Given the description of an element on the screen output the (x, y) to click on. 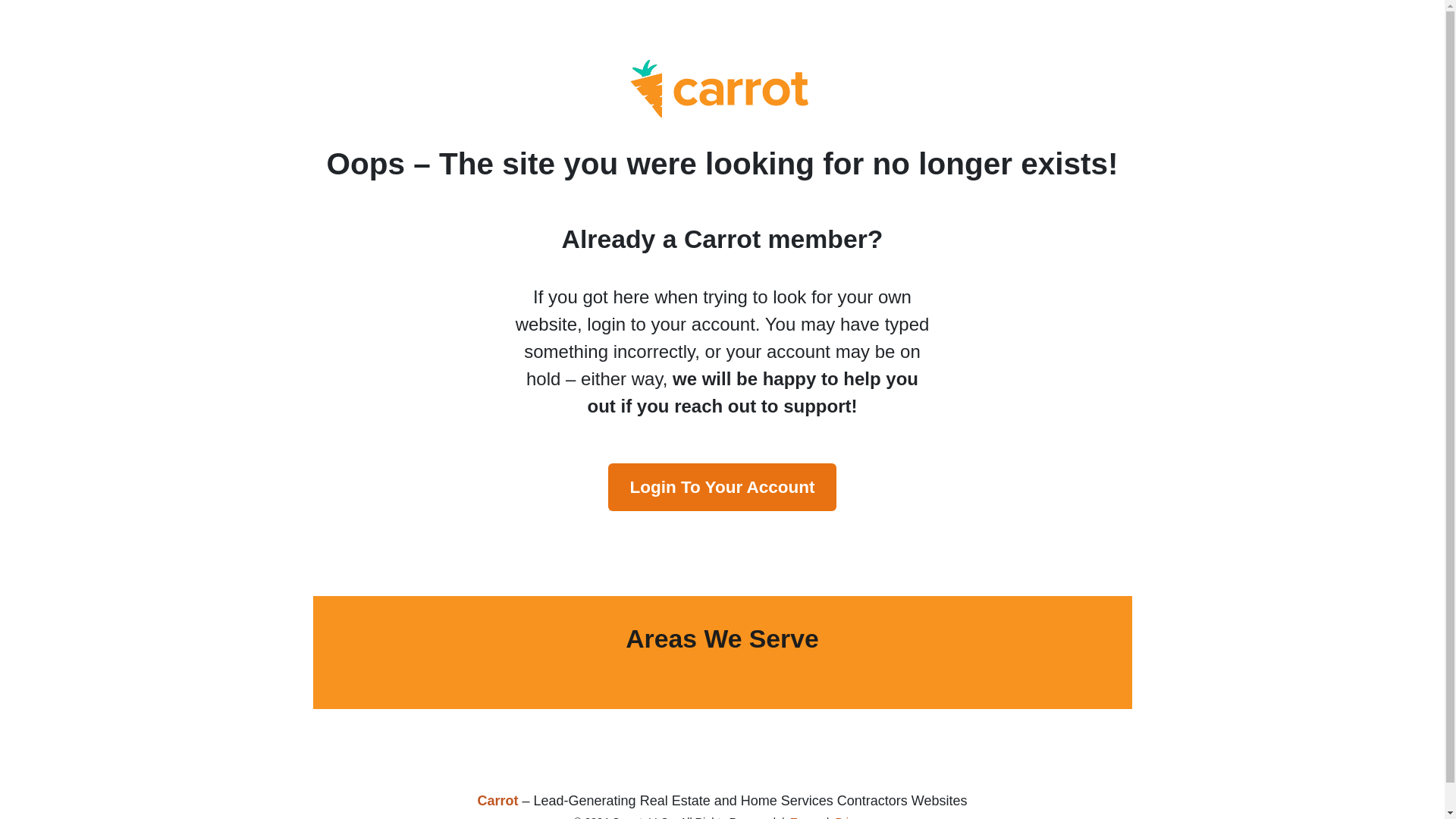
Terms (804, 817)
Privacy (852, 817)
Login To Your Account (721, 487)
Carrot (497, 800)
